Given the description of an element on the screen output the (x, y) to click on. 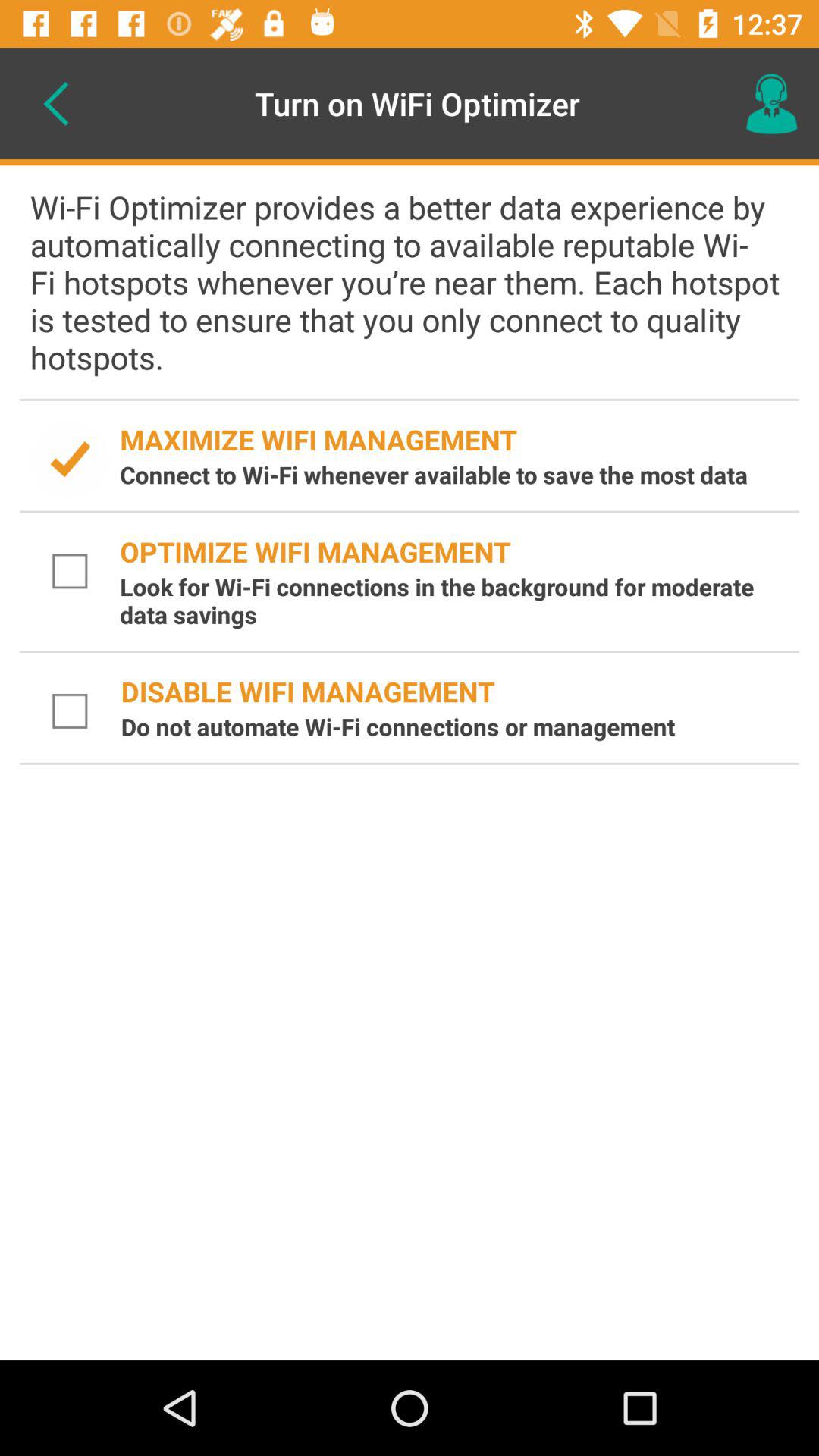
select check box (69, 571)
